Given the description of an element on the screen output the (x, y) to click on. 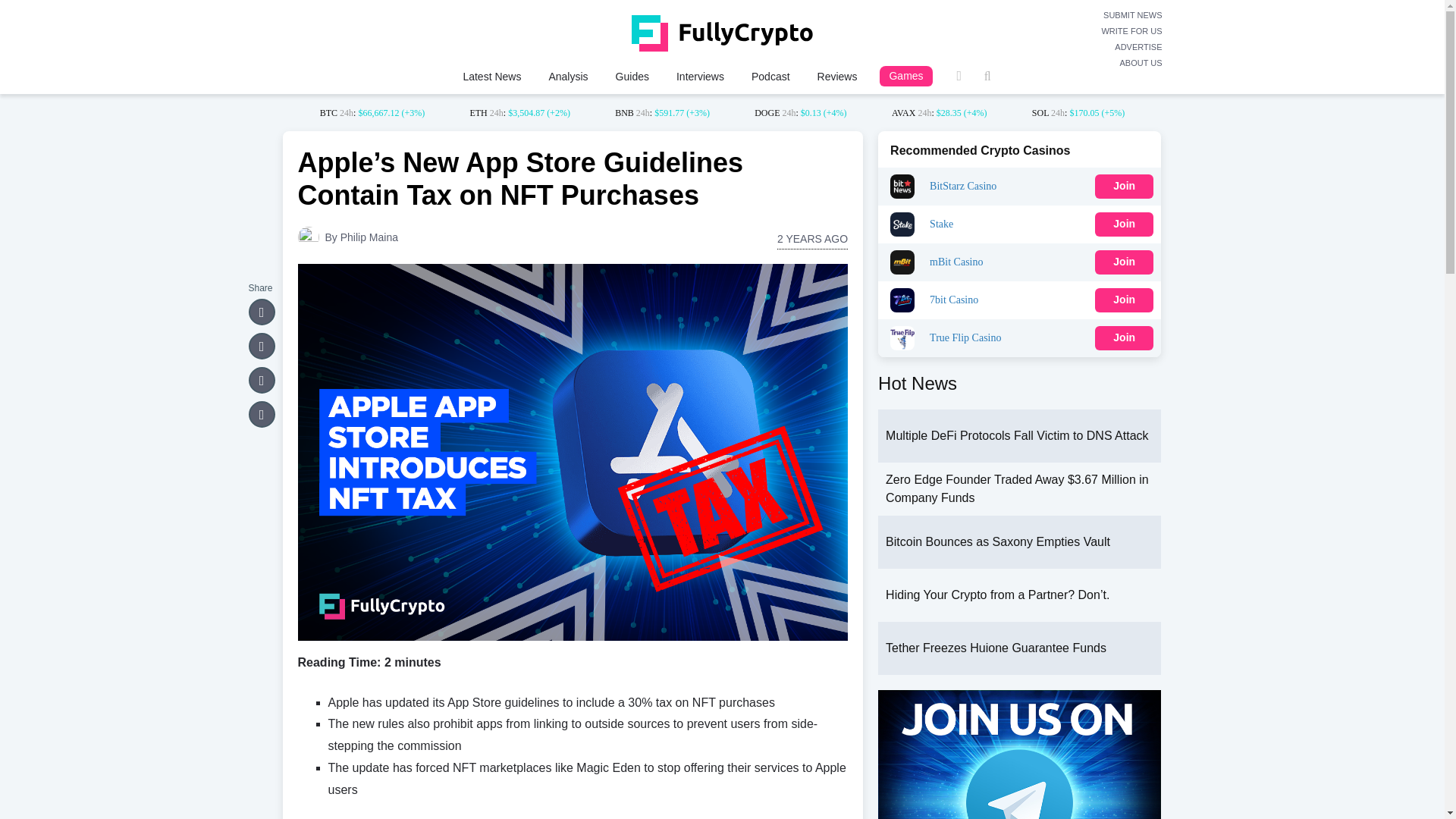
Reviews (836, 76)
Podcast (770, 76)
Posts by Philip Maina (368, 236)
WRITE FOR US (1130, 31)
SUBMIT NEWS (1130, 15)
Interviews (700, 76)
Guides (632, 76)
Latest News (491, 76)
Analysis (567, 76)
ADVERTISE (1130, 47)
Games (905, 76)
ABOUT US (1130, 63)
